Given the description of an element on the screen output the (x, y) to click on. 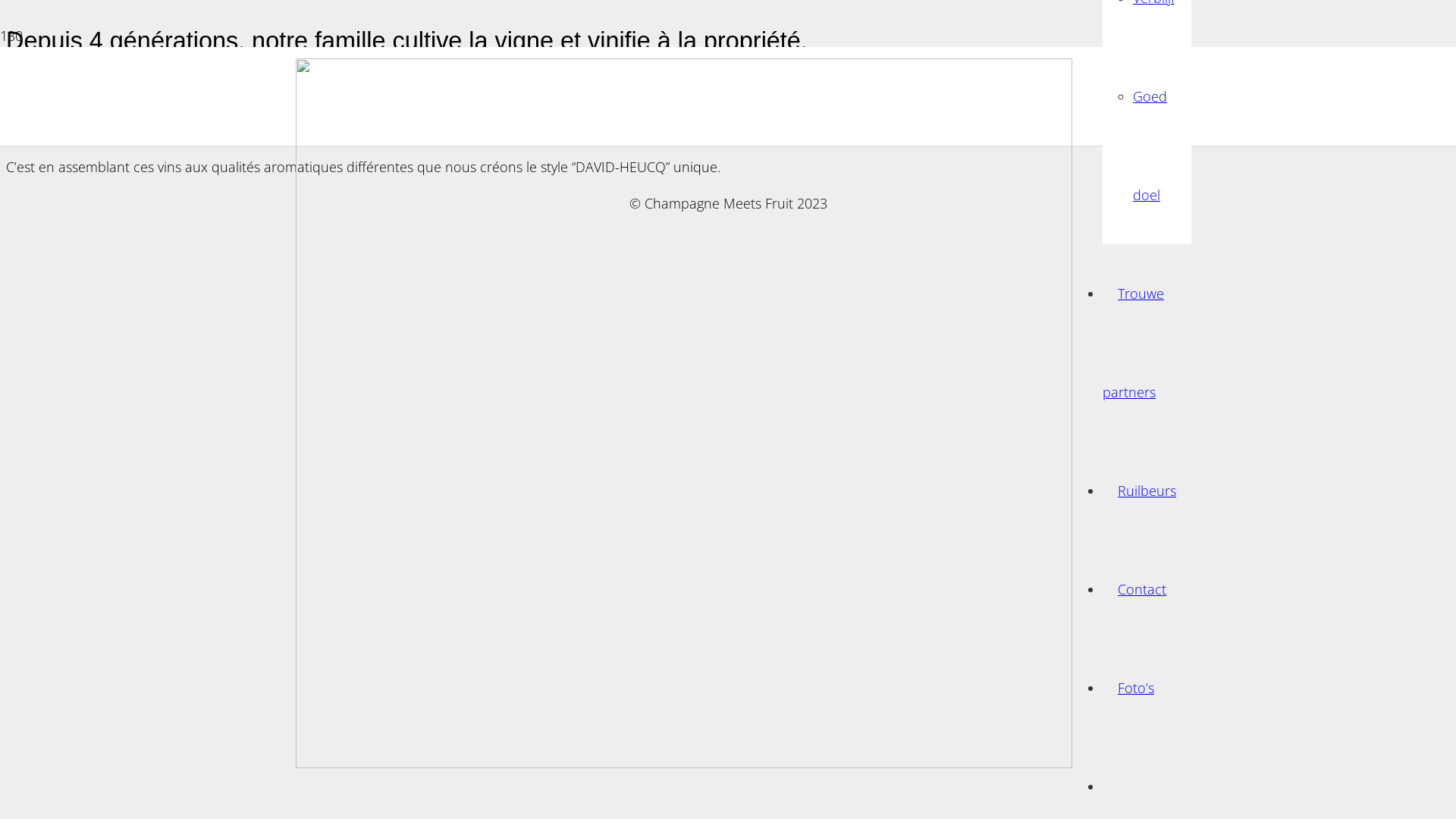
Trouwe partners Element type: text (1136, 342)
Goed doel Element type: text (1149, 145)
Ruilbeurs Element type: text (1146, 490)
Contact Element type: text (1141, 589)
